Given the description of an element on the screen output the (x, y) to click on. 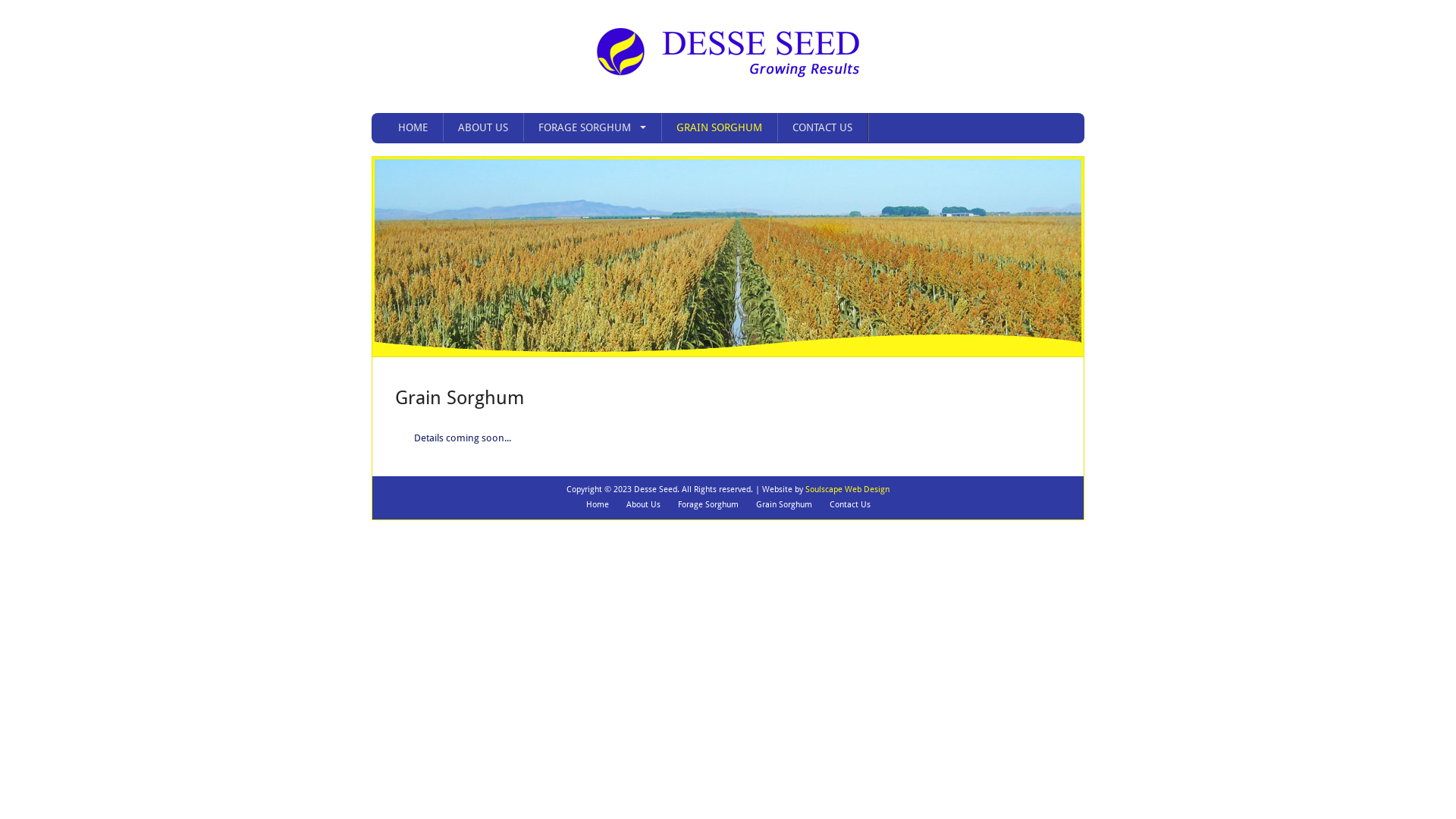
GRAIN SORGHUM Element type: text (719, 126)
HOME Element type: text (412, 126)
Home Element type: text (596, 504)
Soulscape Web Design Element type: text (847, 489)
Forage Sorghum Element type: text (707, 504)
Contact Us Element type: text (849, 504)
ABOUT US Element type: text (482, 126)
Grain Sorghum Element type: text (783, 504)
CONTACT US Element type: text (822, 126)
About Us Element type: text (643, 504)
Desse Seed Element type: hover (727, 71)
FORAGE SORGHUM Element type: text (592, 126)
